Given the description of an element on the screen output the (x, y) to click on. 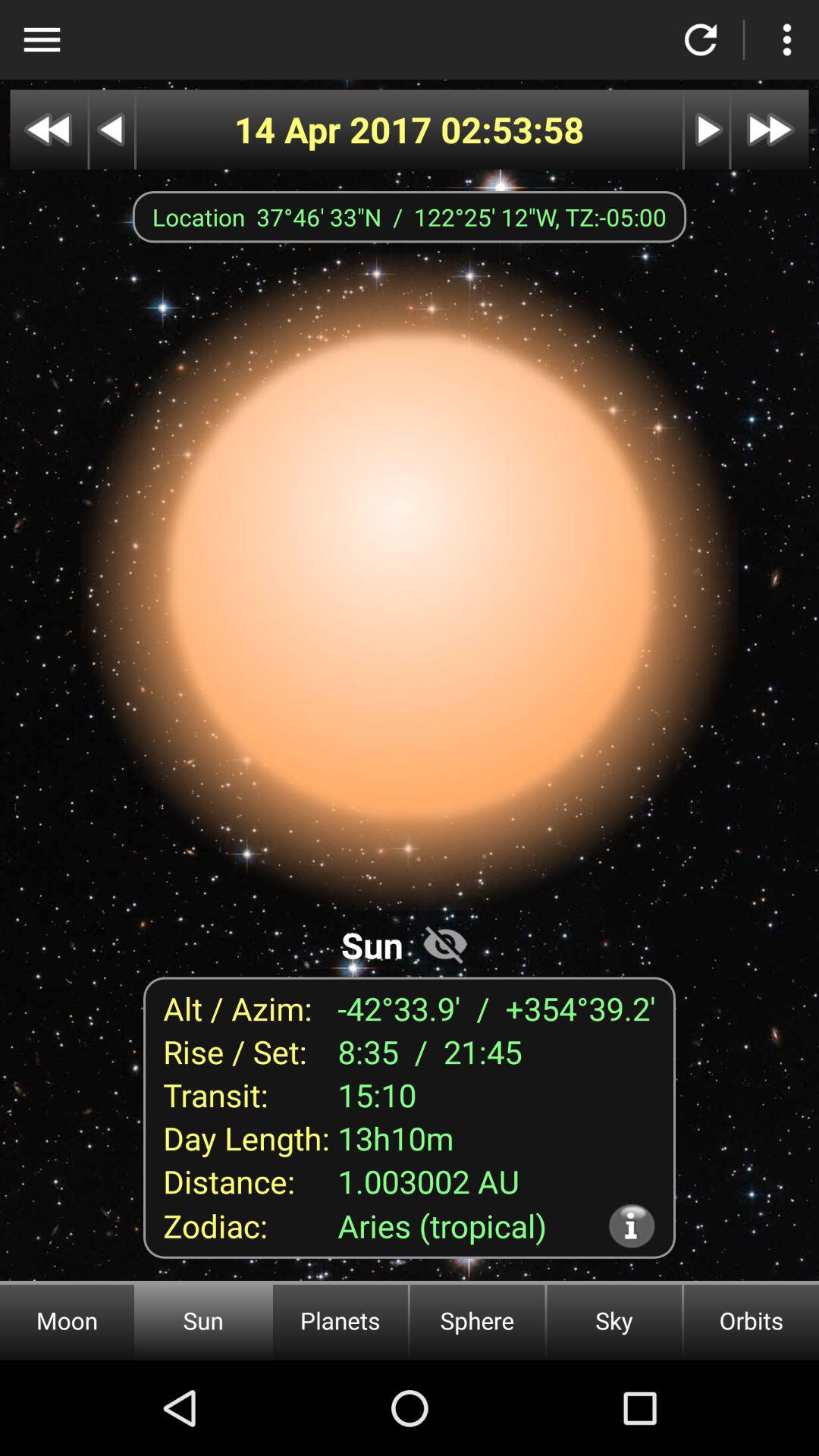
go back one page (111, 129)
